Given the description of an element on the screen output the (x, y) to click on. 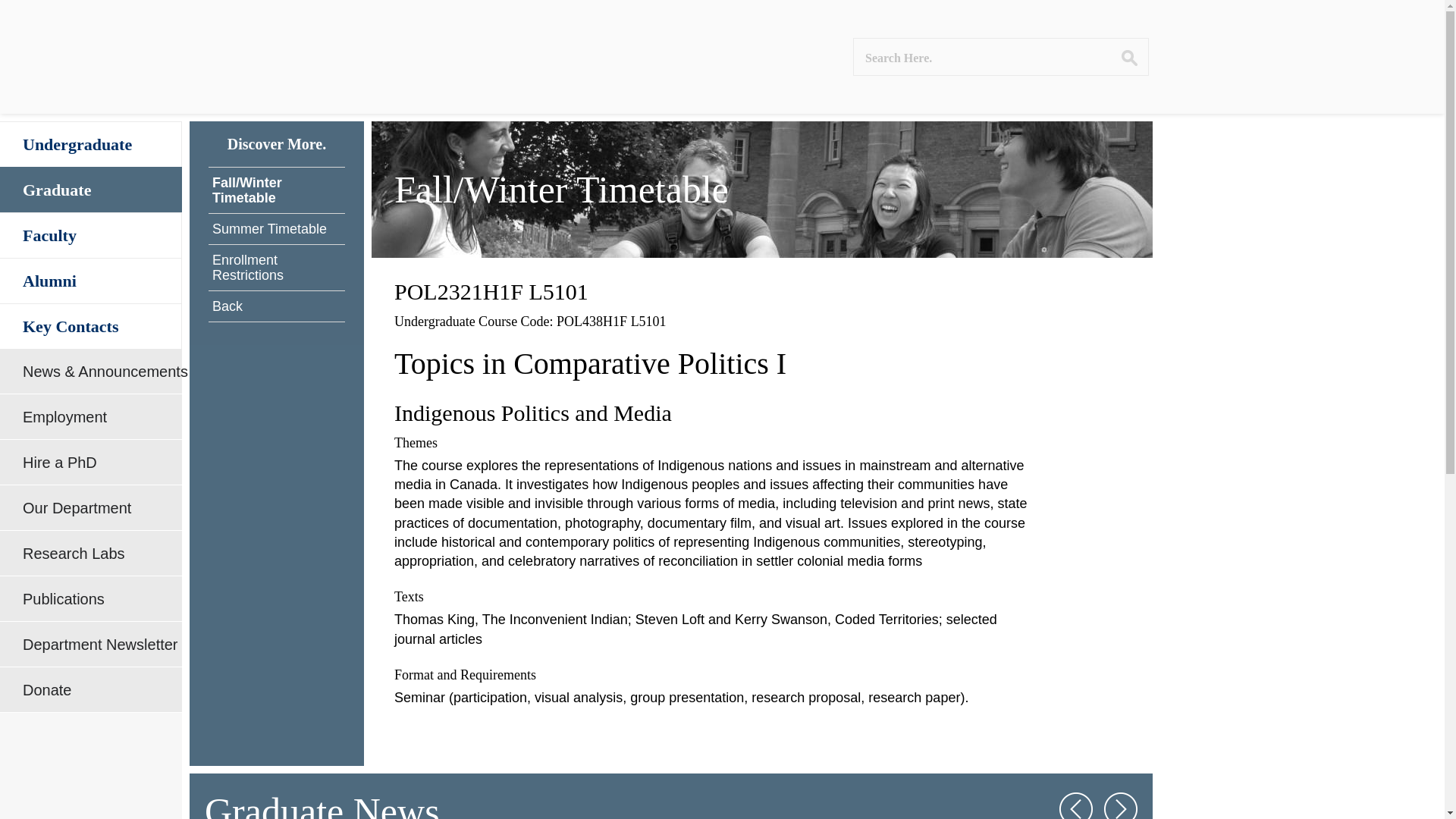
Graduate (91, 189)
Go (1128, 57)
Undergraduate (91, 144)
Department Of Political Science (187, 56)
